Given the description of an element on the screen output the (x, y) to click on. 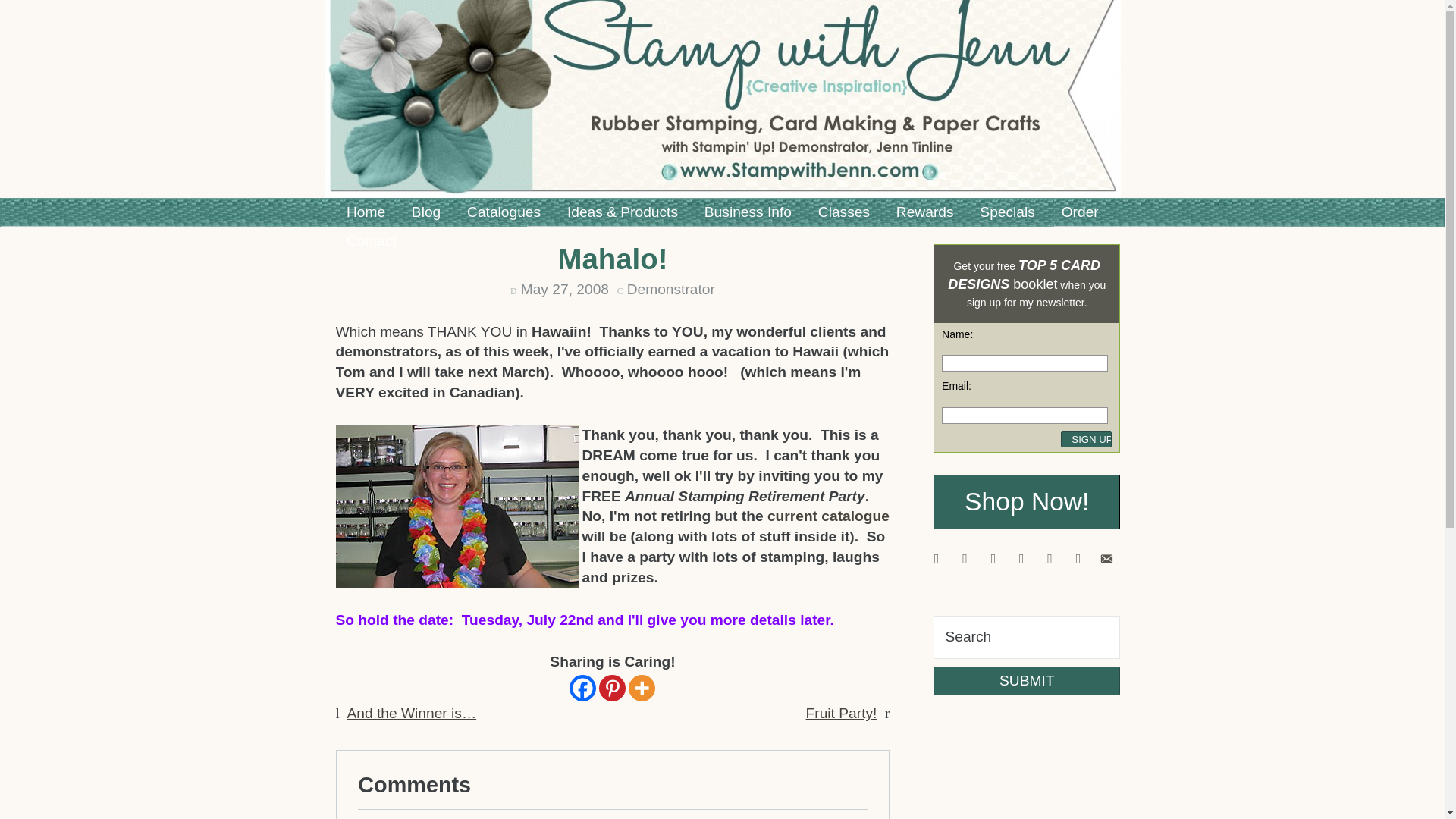
Submit (1026, 680)
Twitter (993, 557)
Default Label (965, 557)
Business Info (747, 212)
Facebook (582, 687)
Facebook (935, 557)
Search (1026, 637)
Rewards (924, 212)
More (641, 687)
Classes (843, 212)
